Given the description of an element on the screen output the (x, y) to click on. 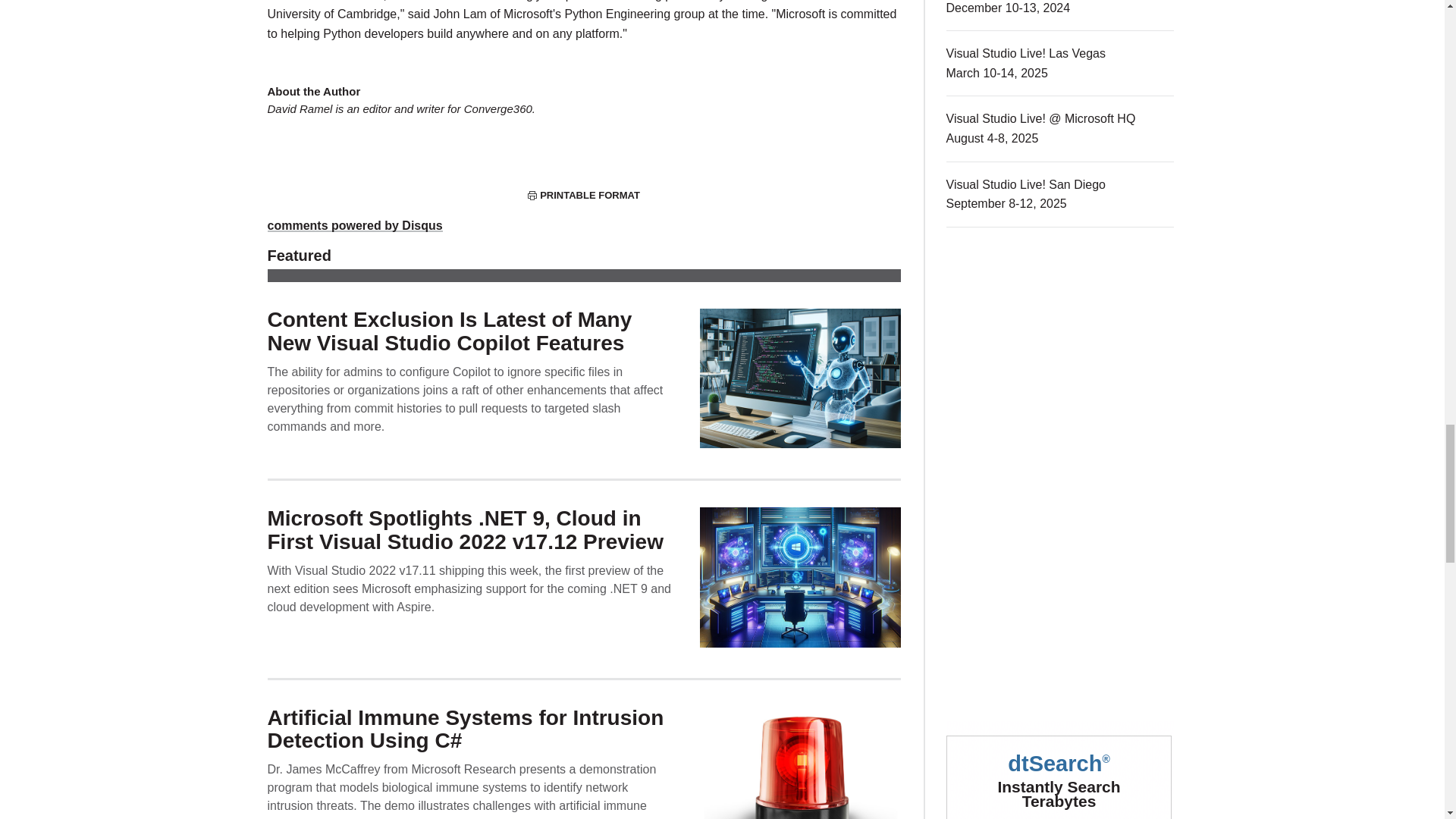
3rd party ad content (1059, 769)
3rd party ad content (1059, 587)
3rd party ad content (1059, 360)
